Given the description of an element on the screen output the (x, y) to click on. 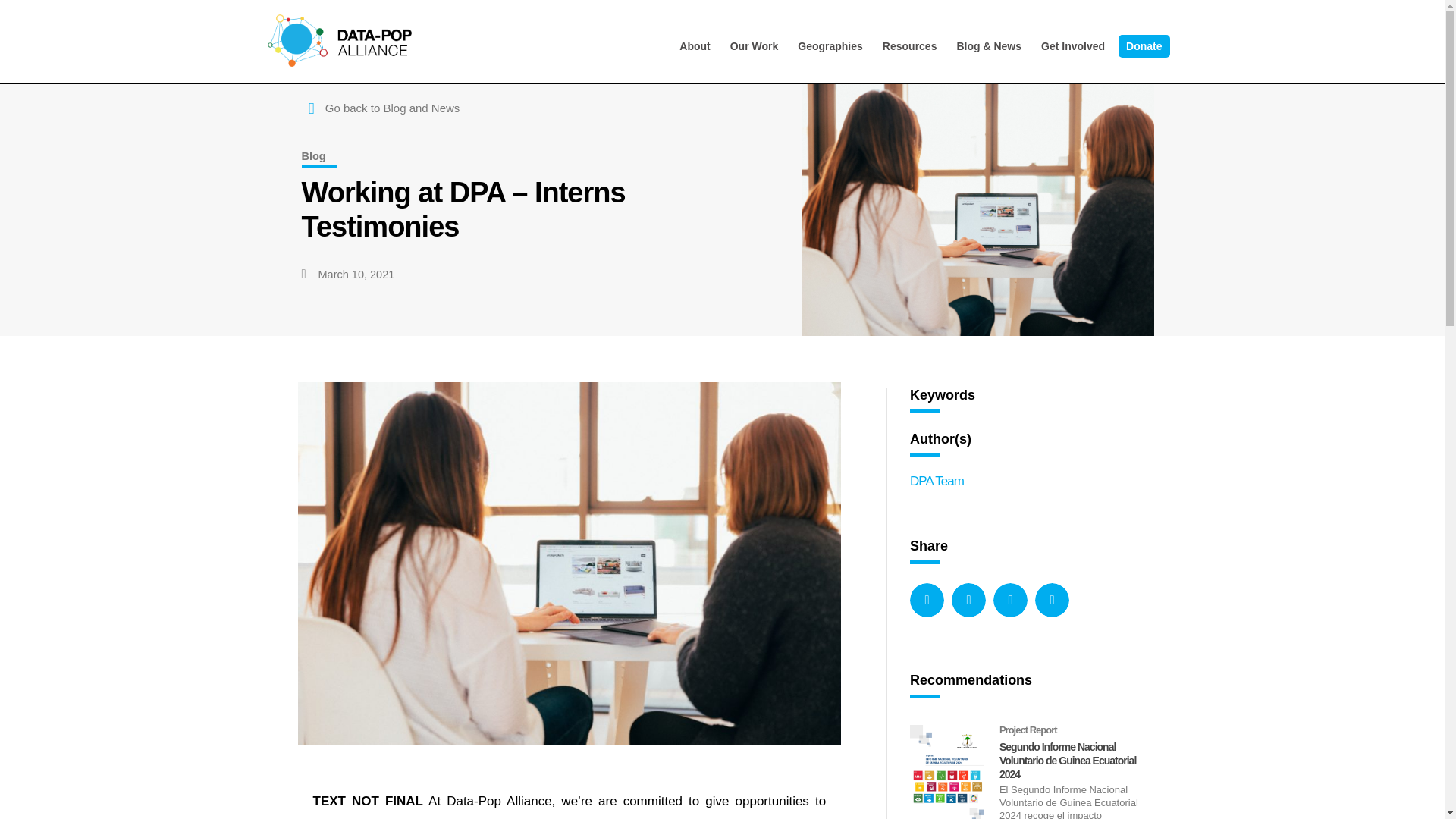
Resources (909, 45)
About (694, 45)
Our Work (753, 45)
Geographies (830, 45)
